Given the description of an element on the screen output the (x, y) to click on. 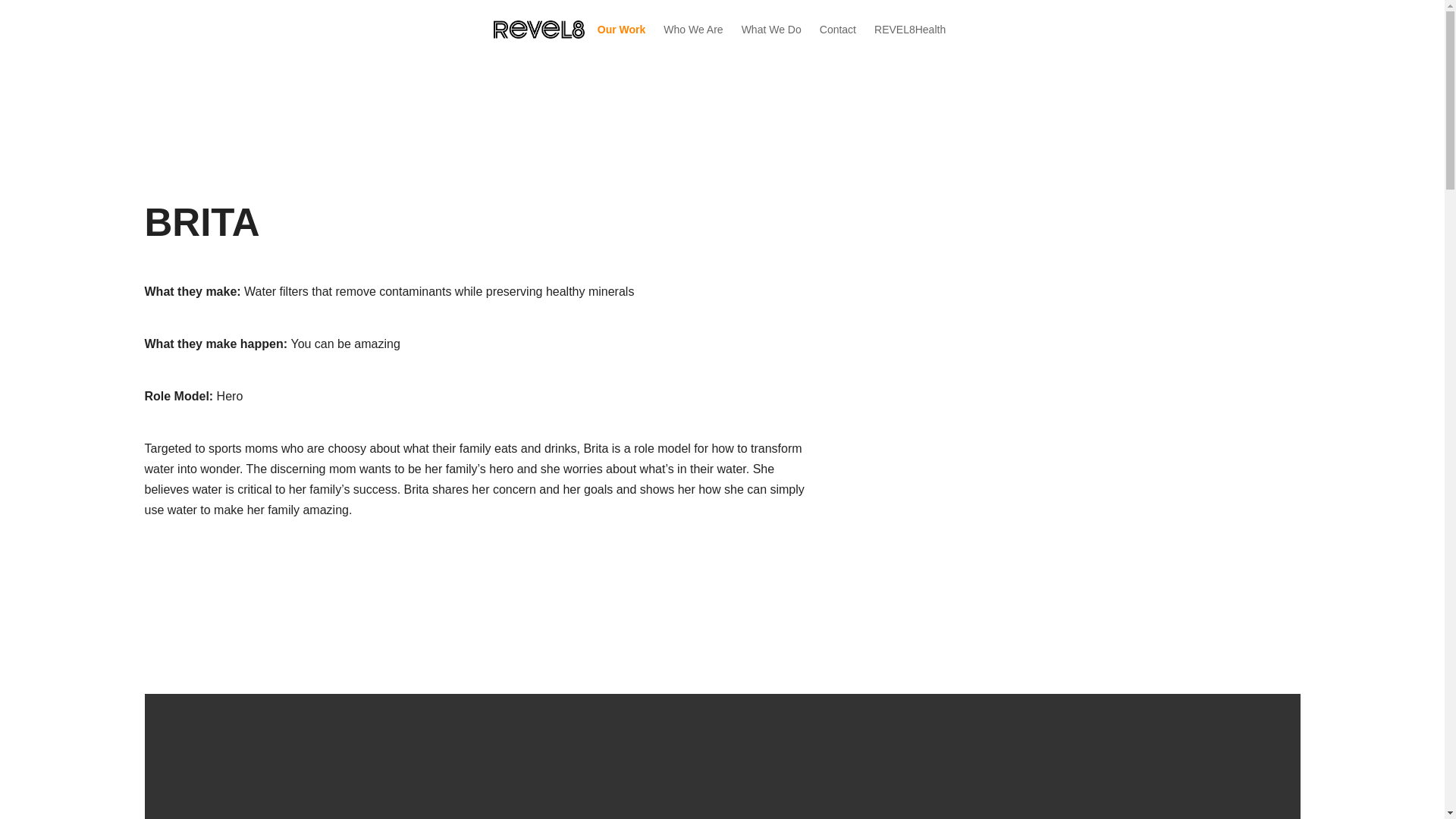
Our Work (621, 29)
Who We Are (692, 29)
What We Do (771, 29)
REVEL8Health (909, 29)
Contact (837, 29)
